Given the description of an element on the screen output the (x, y) to click on. 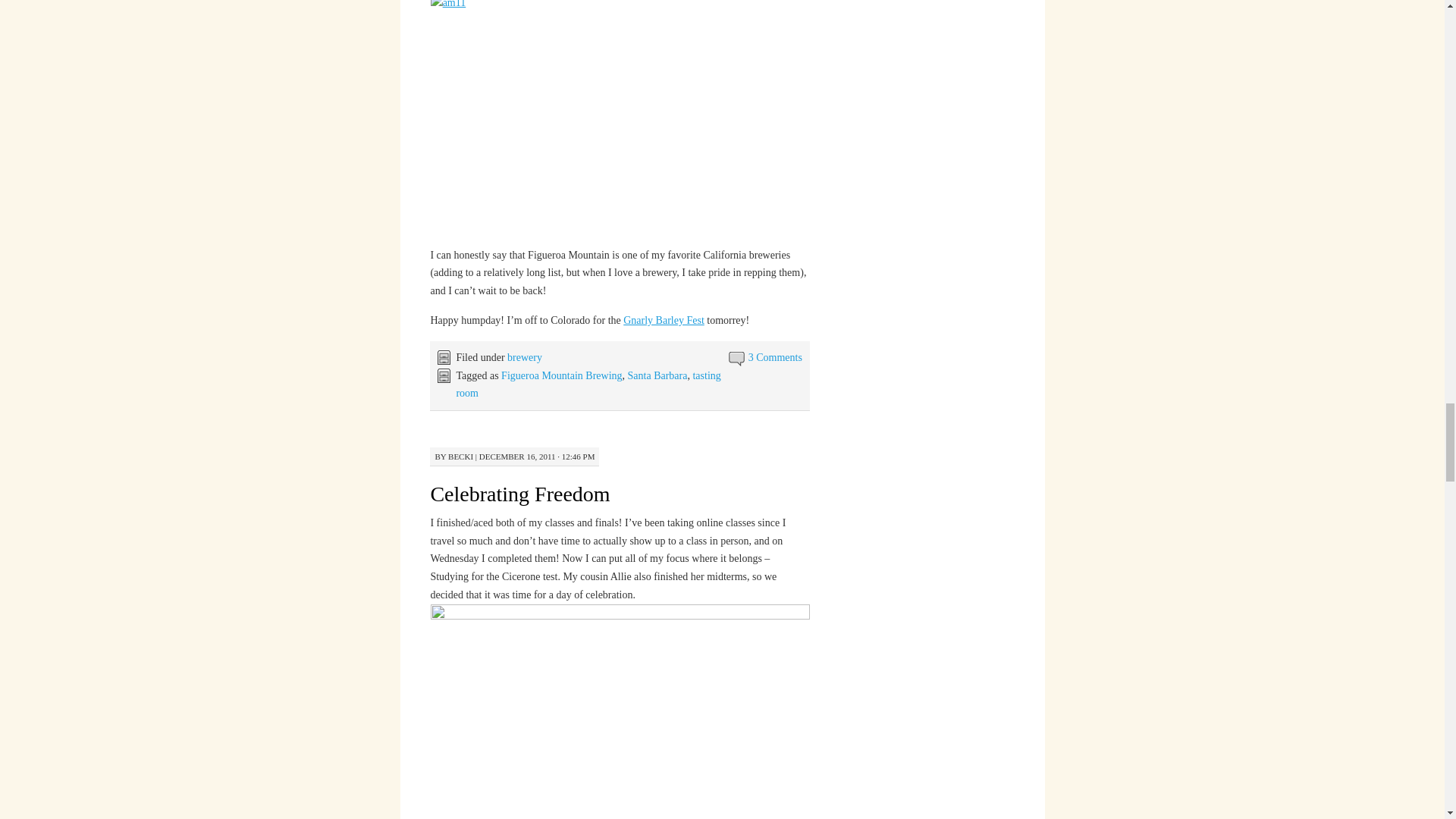
BECKI (460, 456)
Gnarly Barley Fest (663, 319)
View all posts by Becki (460, 456)
Celebrating Freedom (519, 494)
tasting room (587, 384)
brewery (523, 357)
Figueroa Mountain Brewing (560, 375)
Santa Barbara (657, 375)
AM (619, 711)
3 Comments (775, 357)
